Given the description of an element on the screen output the (x, y) to click on. 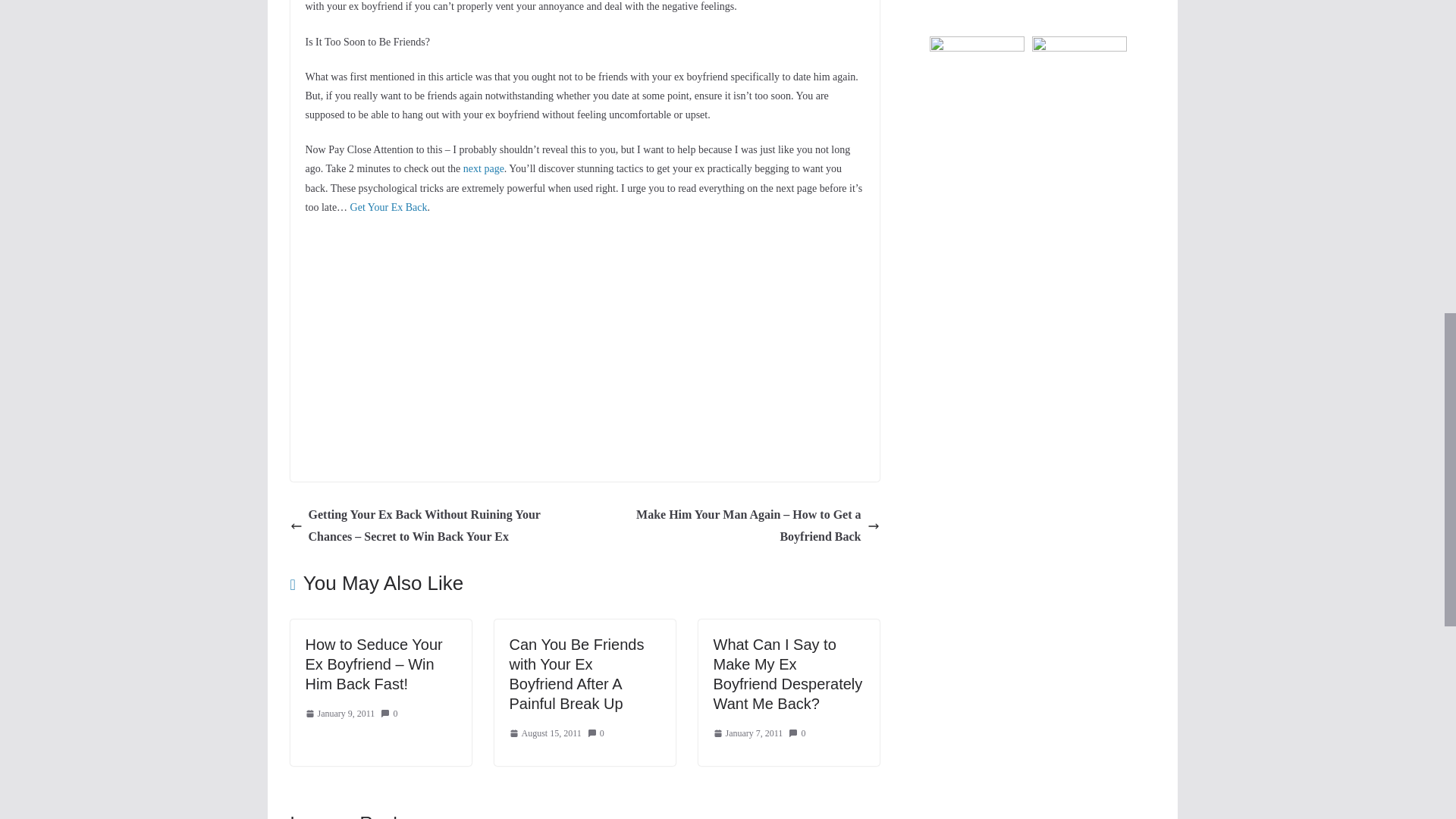
Get Your Ex Back (389, 206)
2:43 am (544, 733)
7:33 pm (339, 713)
January 9, 2011 (339, 713)
next page (483, 168)
